Given the description of an element on the screen output the (x, y) to click on. 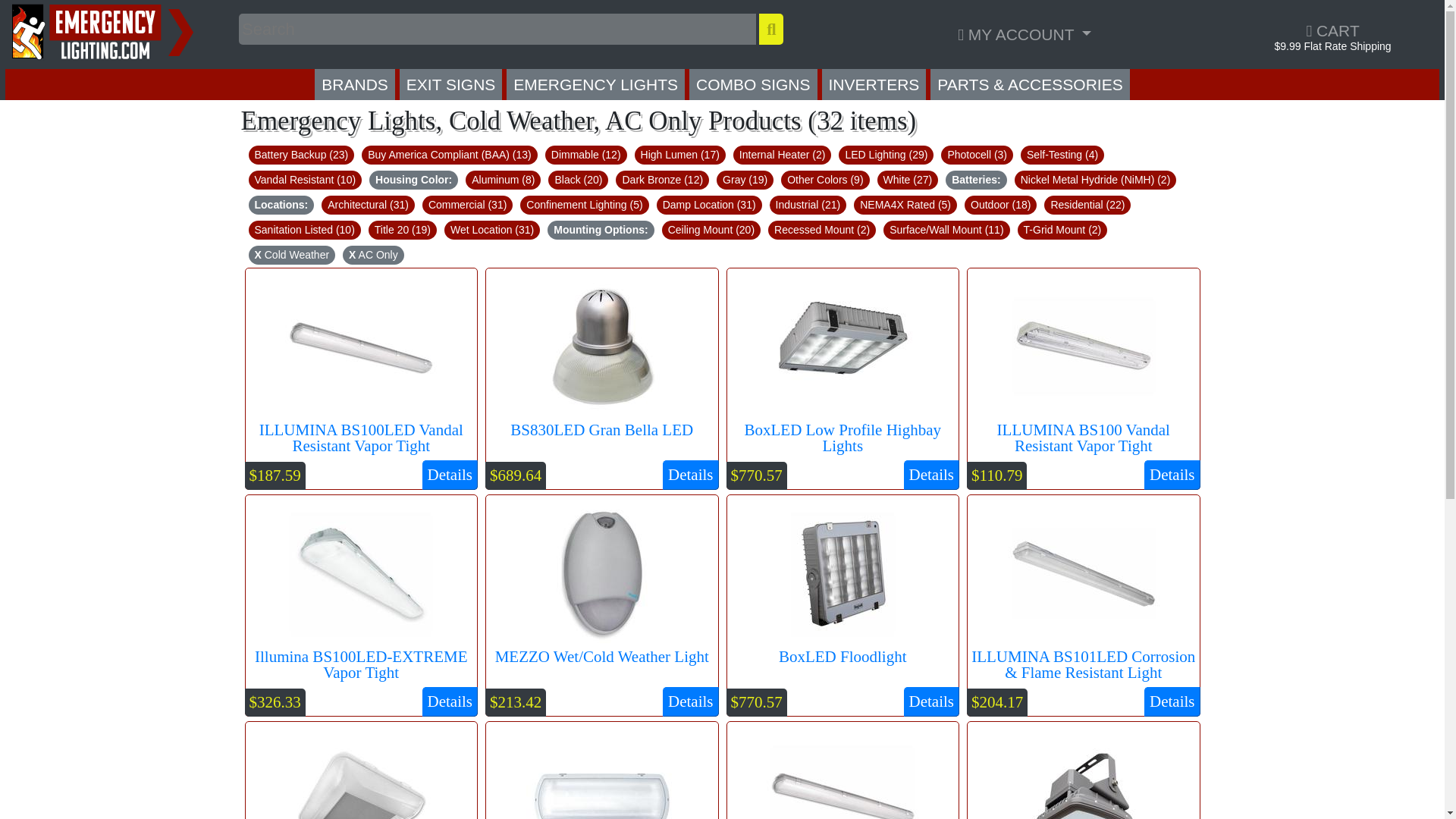
Details (449, 474)
Details (449, 702)
Details (931, 702)
BRANDS (354, 83)
Details (689, 474)
Details (1171, 474)
Details (931, 474)
 CART (1332, 30)
EXIT SIGNS (450, 83)
 MY ACCOUNT (1024, 33)
Details (689, 702)
Details (1171, 702)
